Given the description of an element on the screen output the (x, y) to click on. 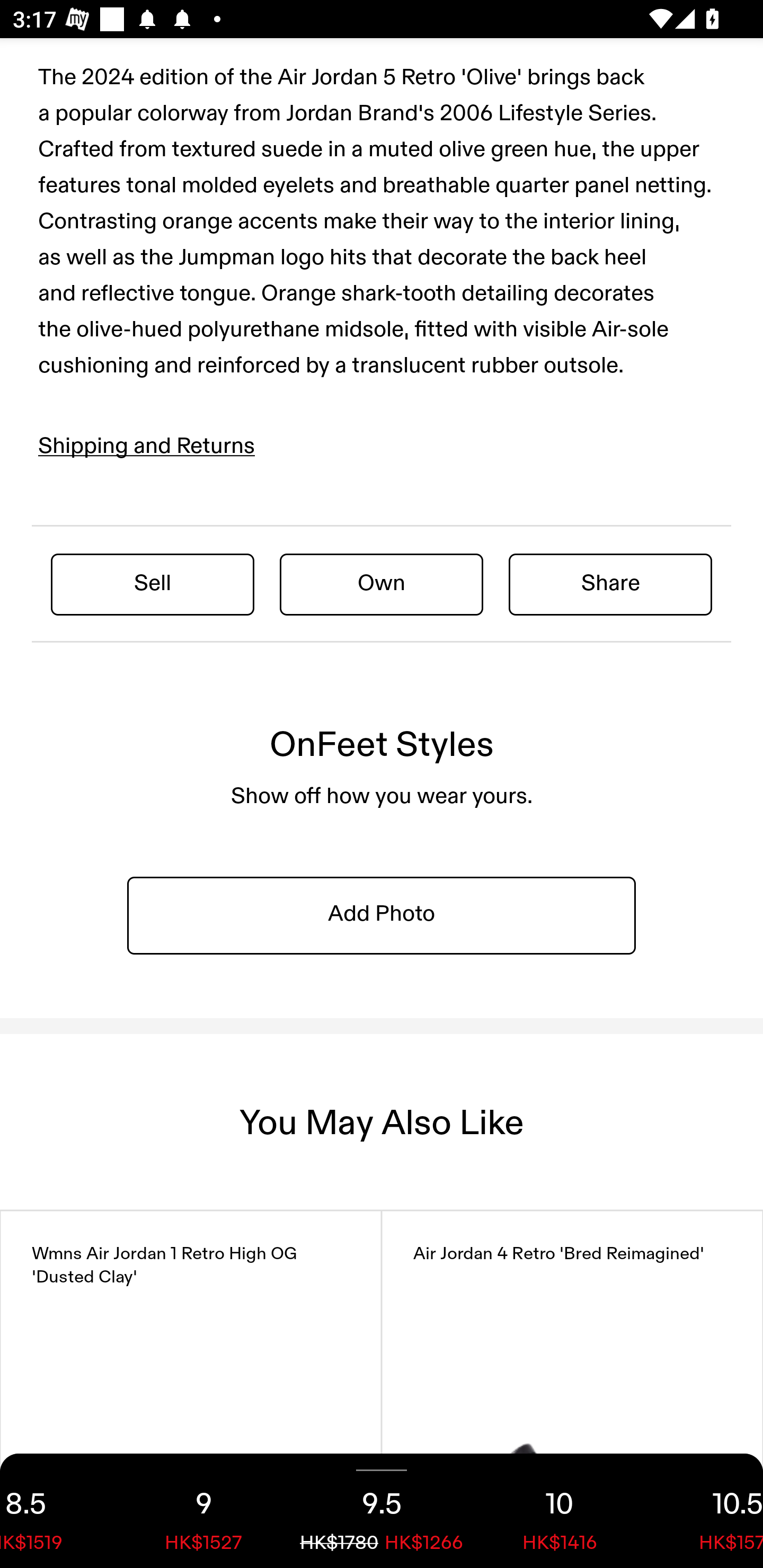
Shipping and Returns (146, 445)
Sell (152, 583)
Own (381, 583)
Share (609, 583)
Add Photo (381, 914)
Wmns Air Jordan 1 Retro High OG 'Dusted Clay' (190, 1389)
Air Jordan 4 Retro 'Bred Reimagined' (572, 1389)
8.5 HK$1519 (57, 1510)
9 HK$1527 (203, 1510)
9.5 HK$1780 HK$1266 (381, 1510)
10 HK$1416 (559, 1510)
10.5 HK$1574 (705, 1510)
